Given the description of an element on the screen output the (x, y) to click on. 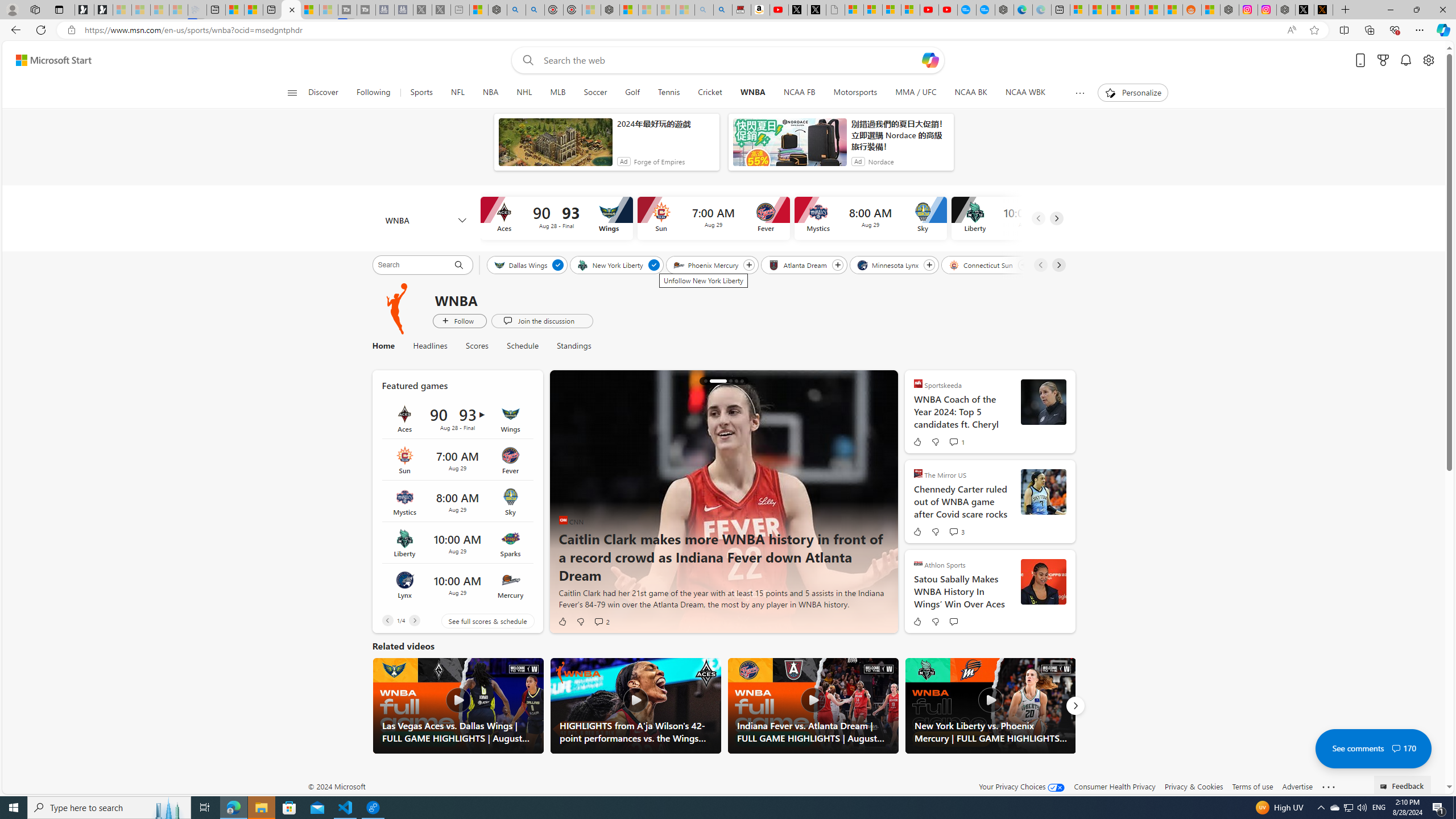
X (816, 9)
Ad (857, 161)
Home (387, 345)
Soccer (595, 92)
Nordace - Summer Adventures 2024 (1285, 9)
Amazon Echo Dot PNG - Search Images (722, 9)
The Mirror US (917, 473)
help.x.com | 524: A timeout occurred (1323, 9)
Shanghai, China Weather trends | Microsoft Weather (1173, 9)
New York Liberty (611, 264)
Consumer Health Privacy (1115, 785)
